Given the description of an element on the screen output the (x, y) to click on. 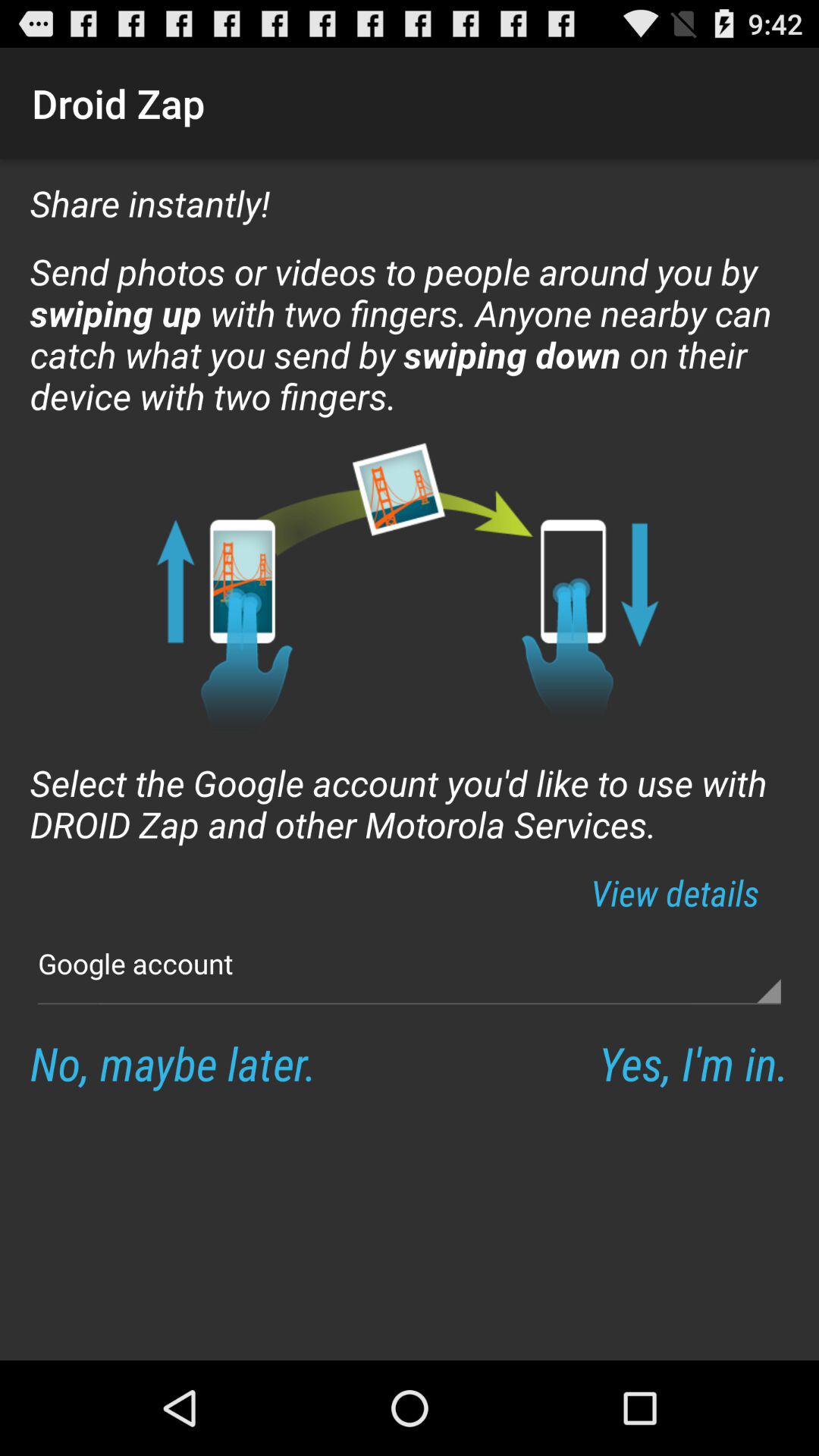
turn on icon to the right of the no, maybe later. item (693, 1062)
